Given the description of an element on the screen output the (x, y) to click on. 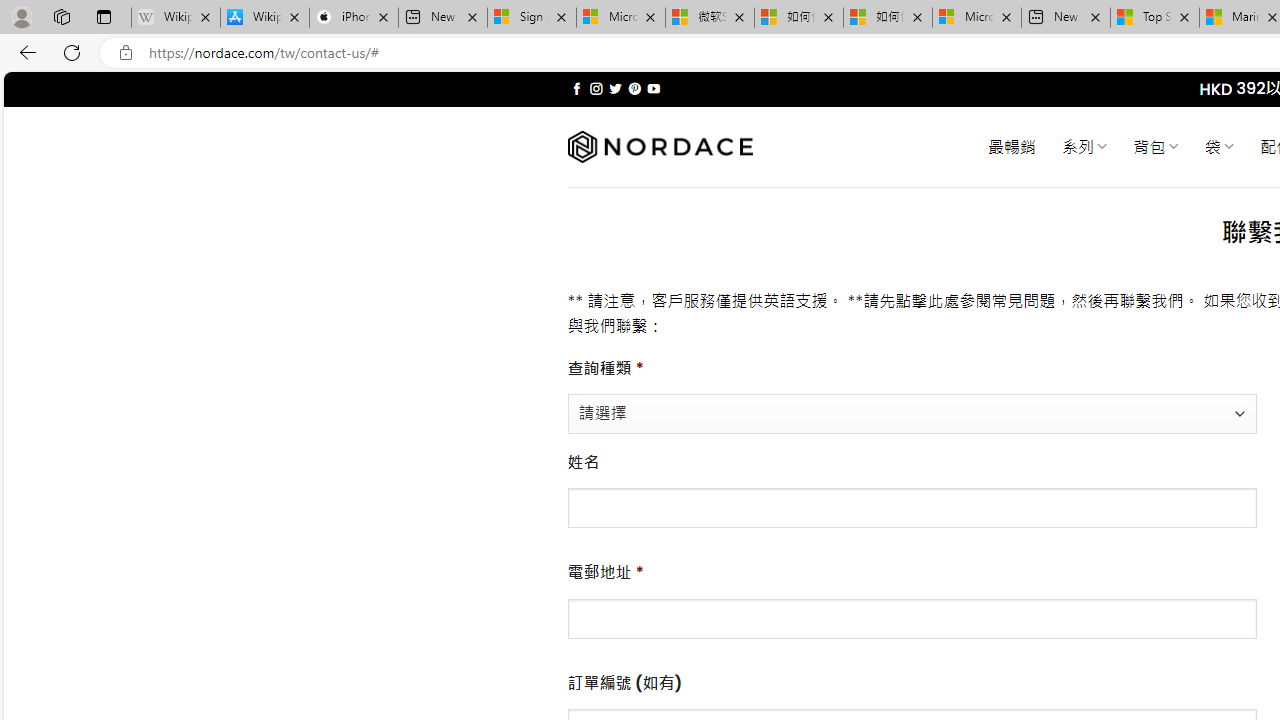
Microsoft account | Account Checkup (977, 17)
Follow on Instagram (596, 88)
Follow on YouTube (653, 88)
Sign in to your Microsoft account (531, 17)
